Given the description of an element on the screen output the (x, y) to click on. 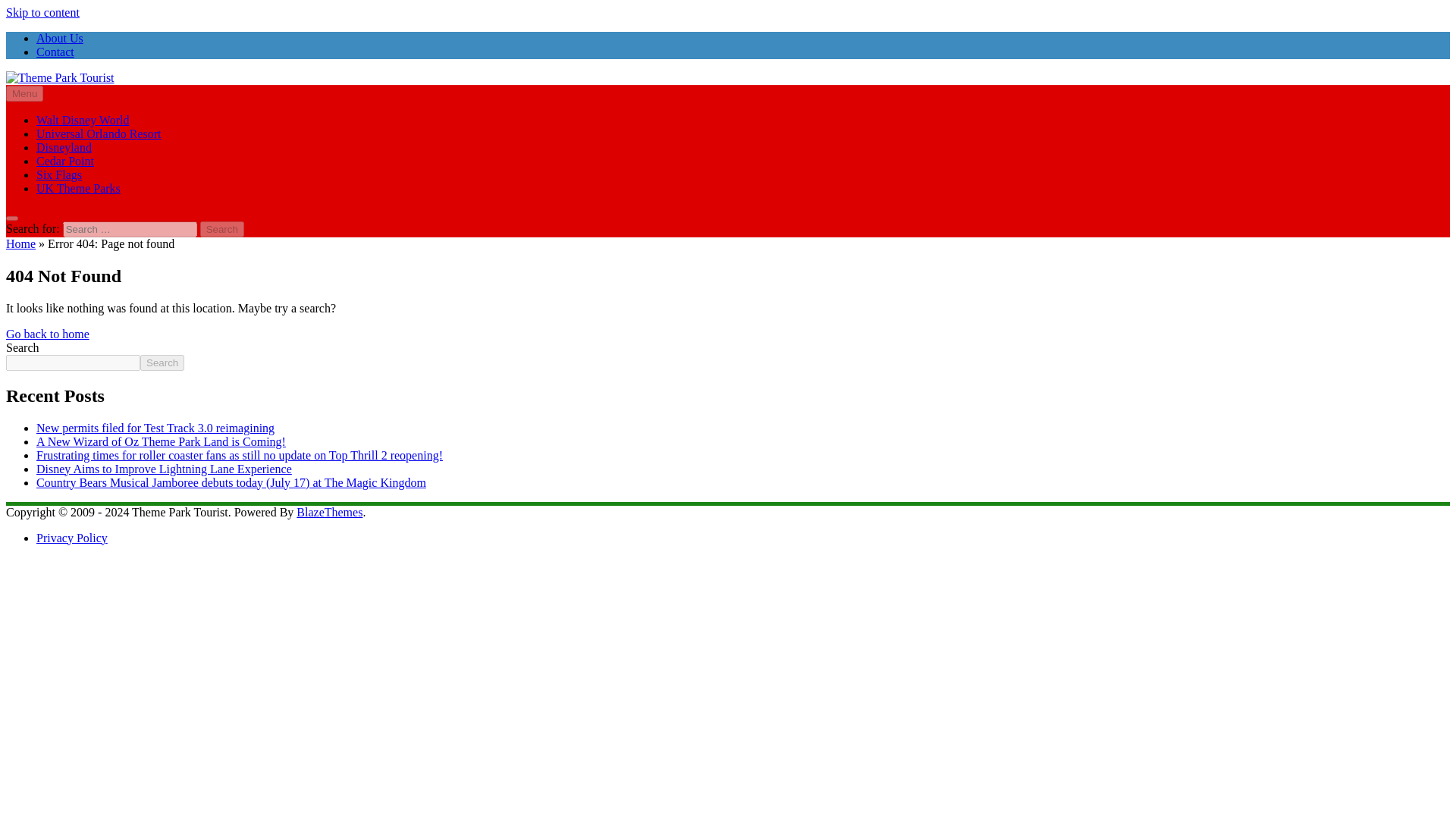
Six Flags (58, 174)
Go back to home (46, 333)
Menu (24, 93)
Disney Aims to Improve Lightning Lane Experience (164, 468)
Contact (55, 51)
Search (161, 362)
UK Theme Parks (78, 187)
New permits filed for Test Track 3.0 reimagining (155, 427)
Home (19, 243)
Search (222, 229)
Cedar Point (65, 160)
Search (222, 229)
About Us (59, 38)
BlazeThemes (329, 512)
Skip to content (42, 11)
